Given the description of an element on the screen output the (x, y) to click on. 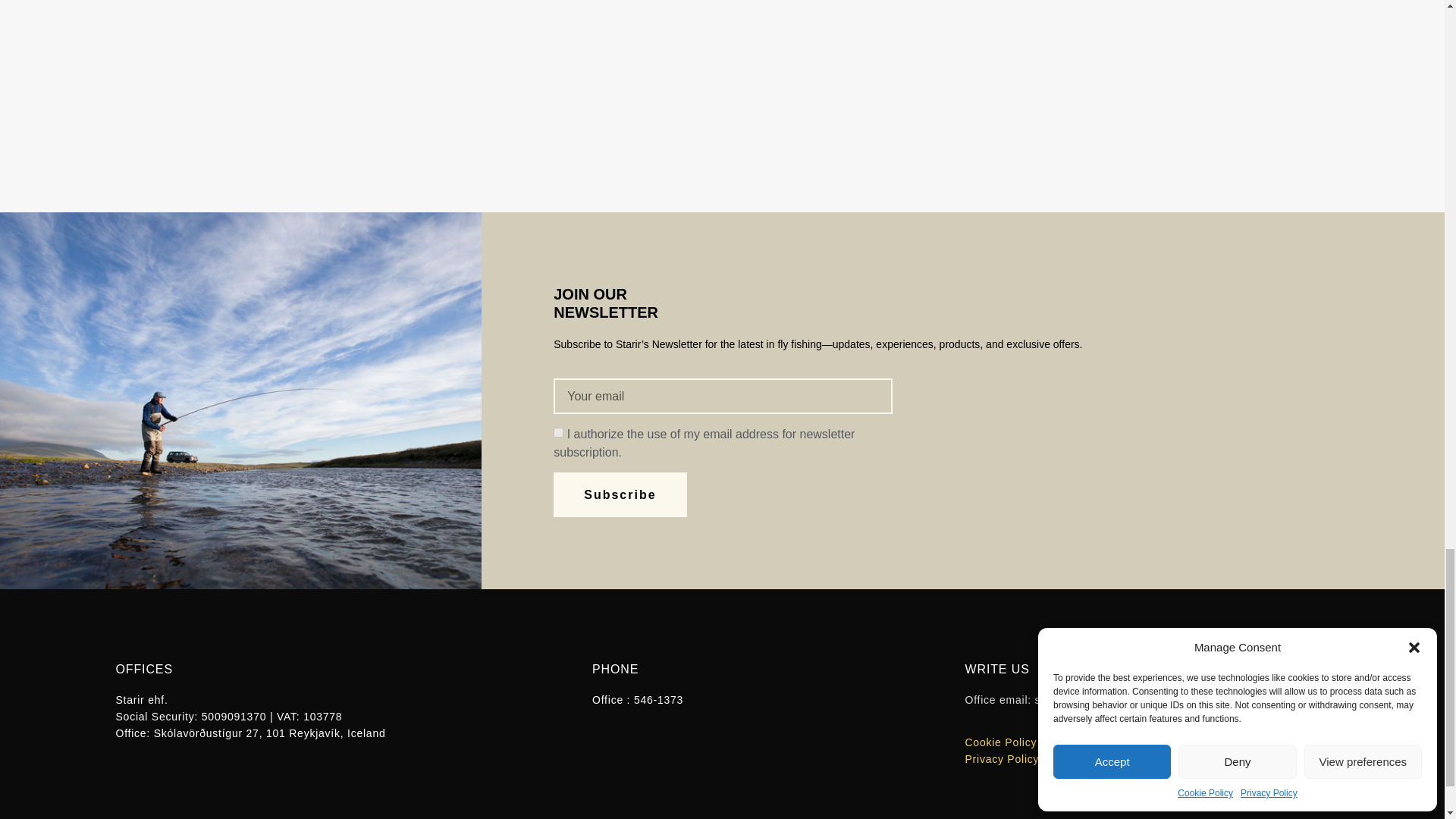
on (558, 432)
